Given the description of an element on the screen output the (x, y) to click on. 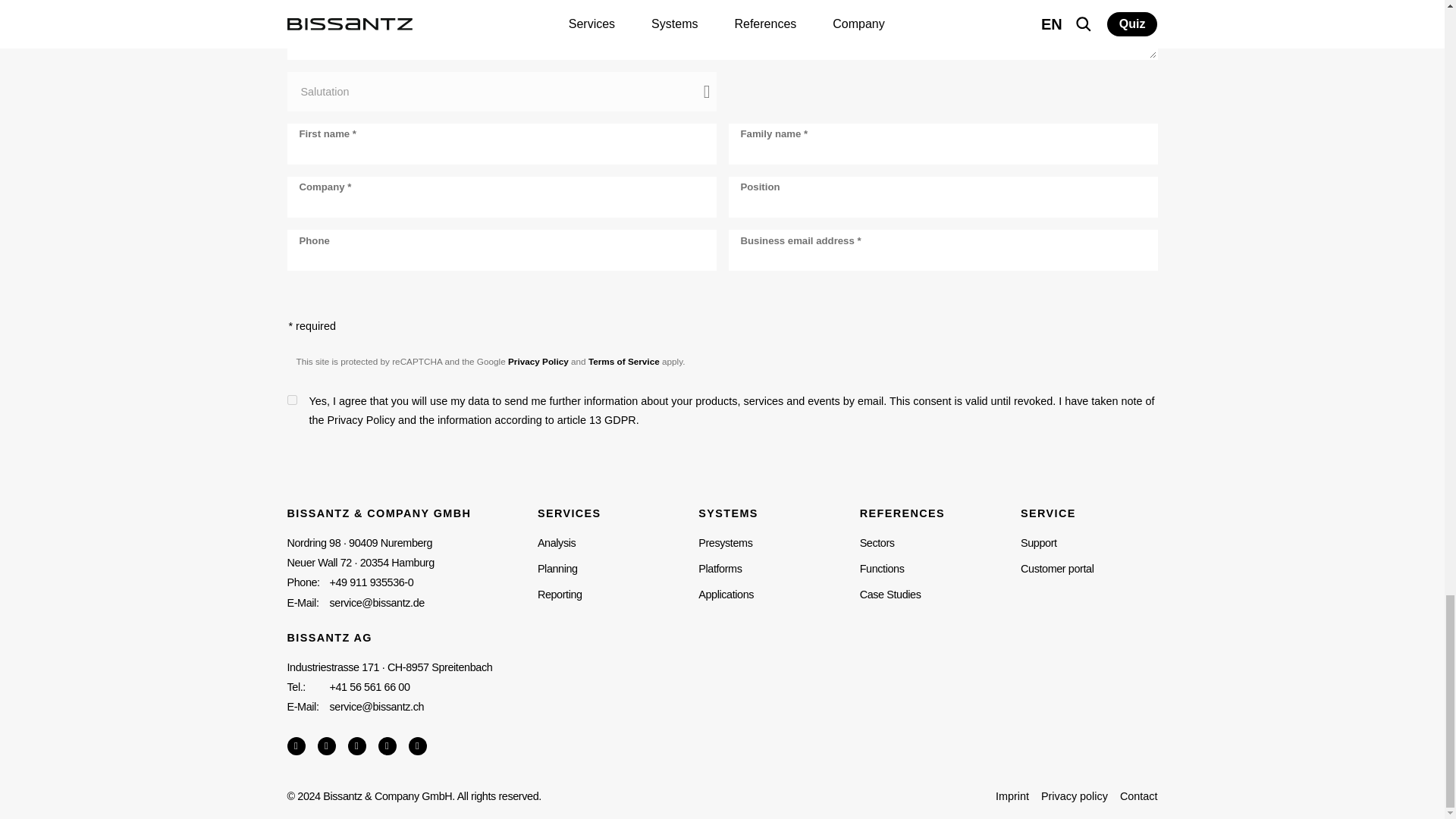
true (291, 399)
